Given the description of an element on the screen output the (x, y) to click on. 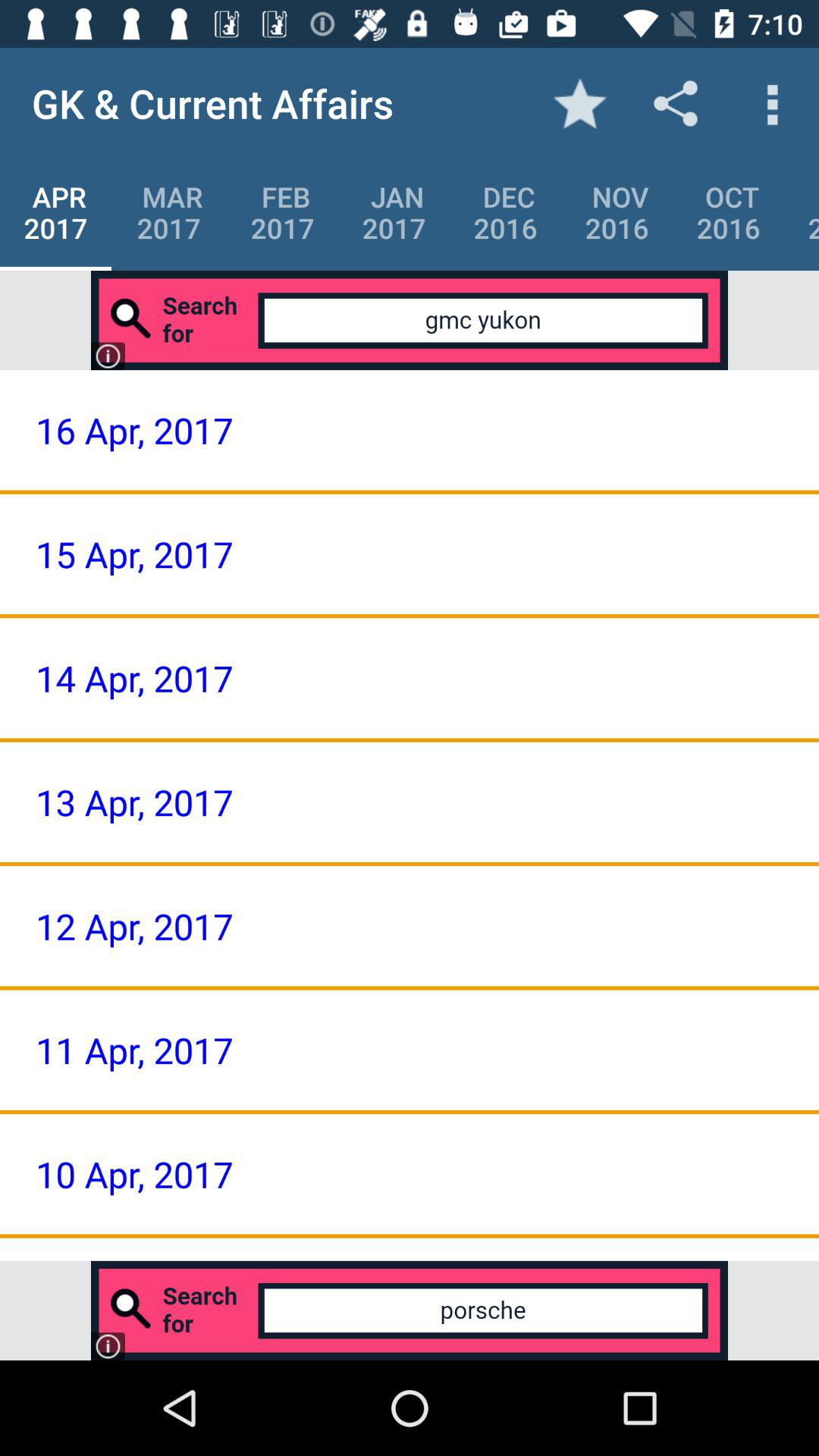
click the icon to the left of  feb
2017 (168, 212)
